Given the description of an element on the screen output the (x, y) to click on. 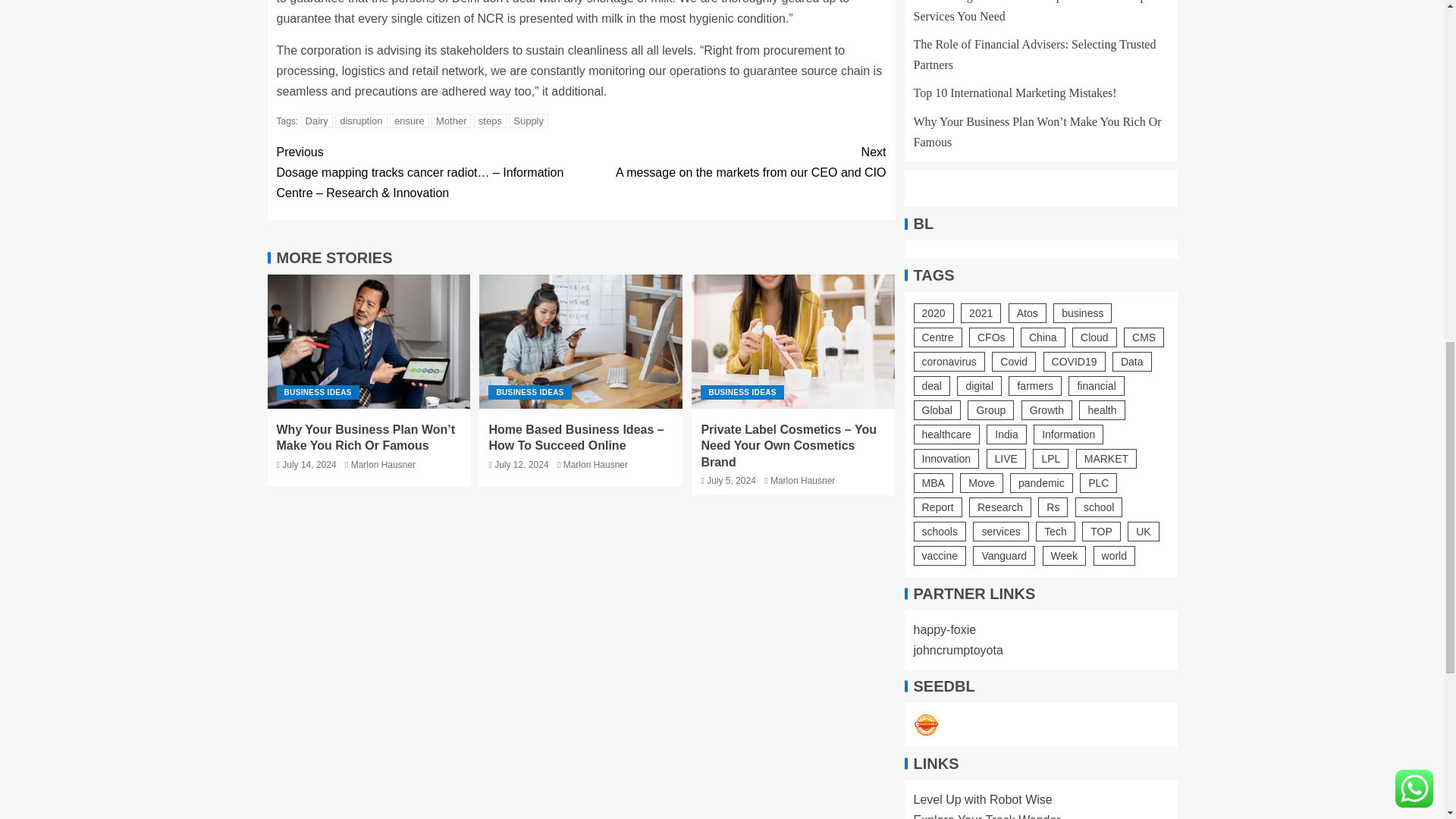
ensure (409, 120)
BUSINESS IDEAS (317, 391)
Marlon Hausner (595, 464)
Supply (528, 120)
steps (490, 120)
Dairy (317, 120)
Mother (732, 161)
Marlon Hausner (450, 120)
disruption (382, 464)
